Given the description of an element on the screen output the (x, y) to click on. 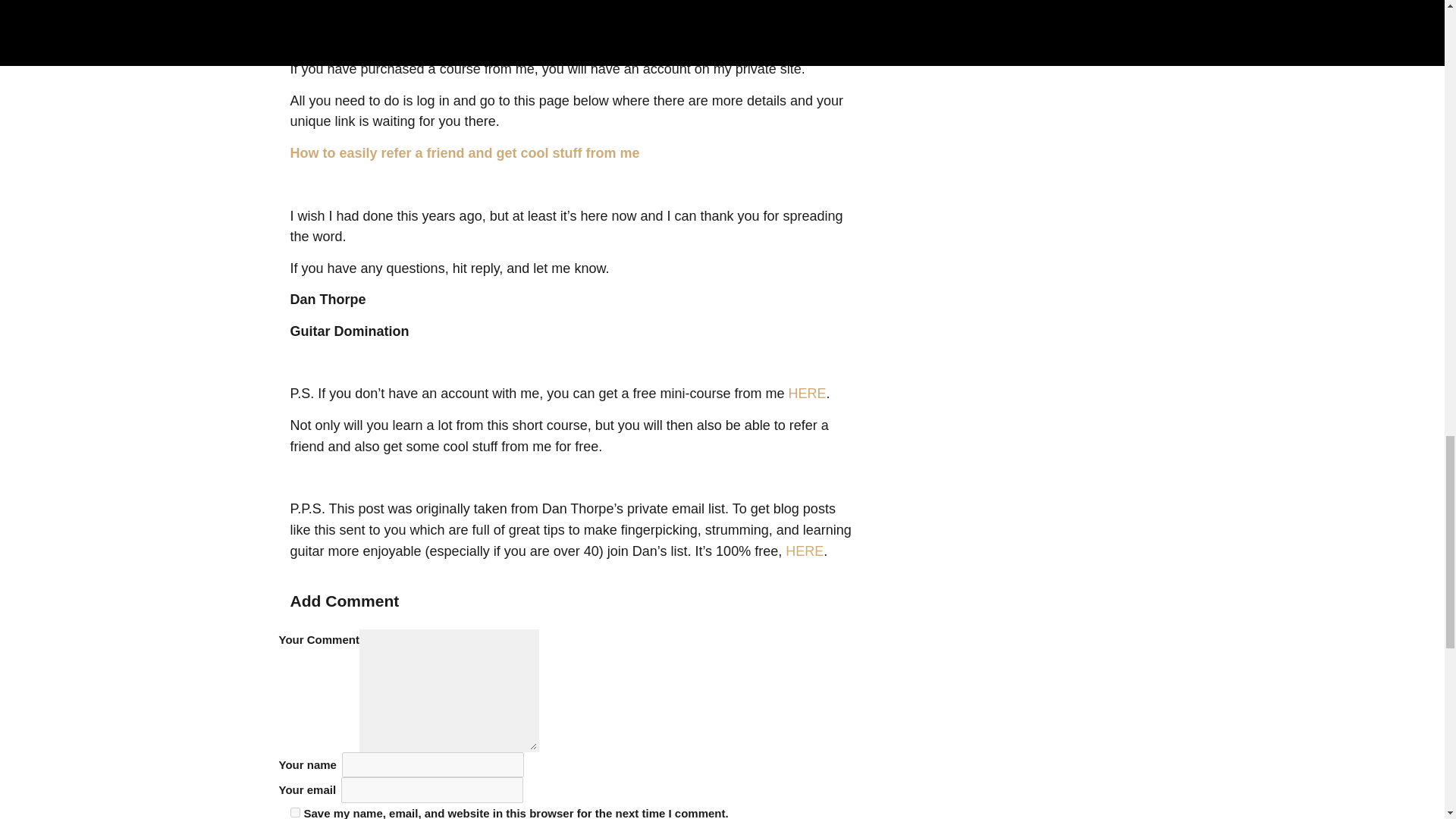
HERE (808, 393)
HERE (805, 550)
How to easily refer a friend and get cool stuff from me (464, 152)
yes (294, 812)
